Given the description of an element on the screen output the (x, y) to click on. 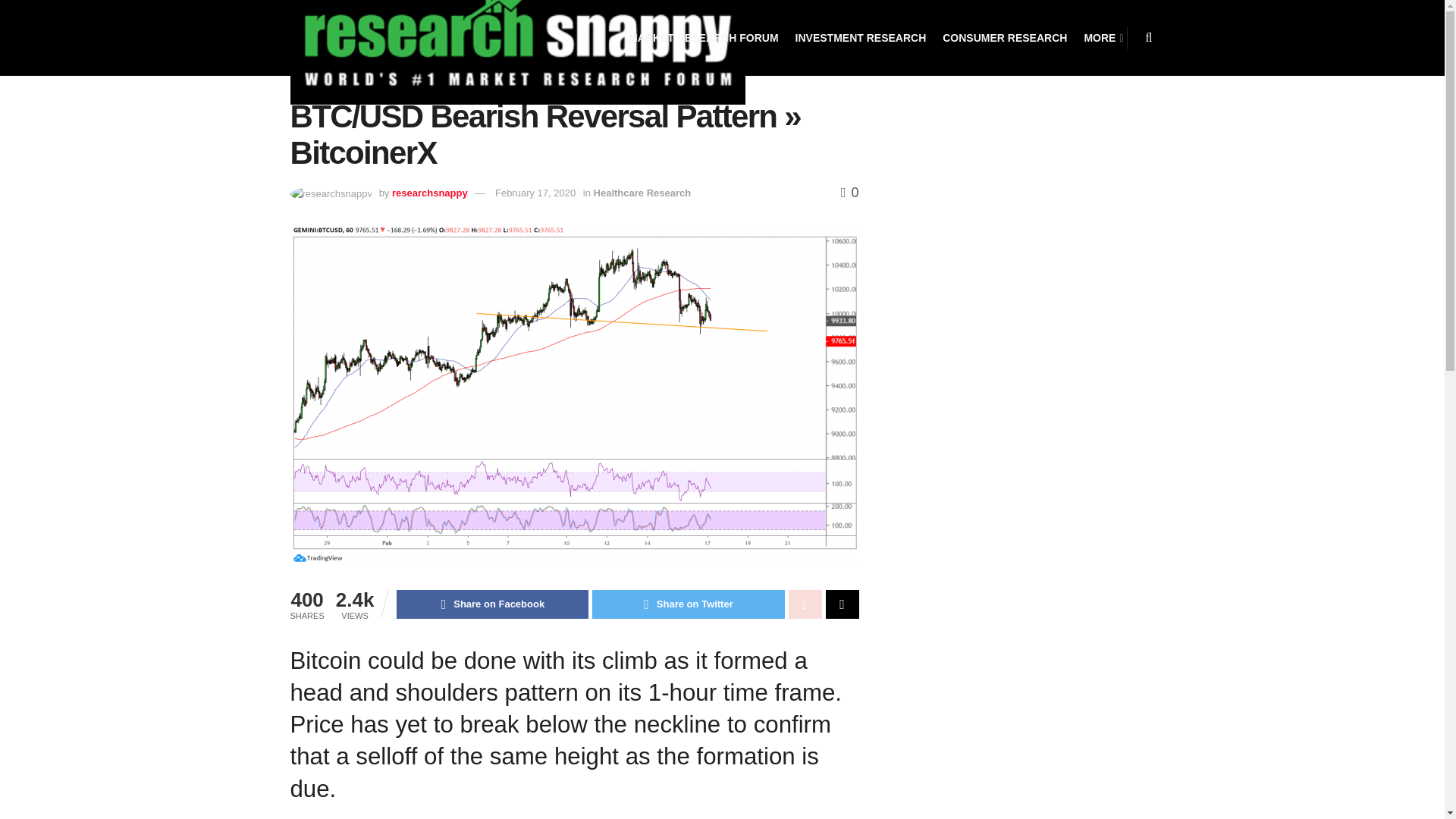
0 (850, 192)
INVESTMENT RESEARCH (860, 38)
Share on Twitter (688, 604)
CONSUMER RESEARCH (1004, 38)
Healthcare Research (642, 193)
MARKET RESEARCH FORUM (703, 38)
researchsnappy (429, 193)
Share on Facebook (492, 604)
February 17, 2020 (535, 193)
